Given the description of an element on the screen output the (x, y) to click on. 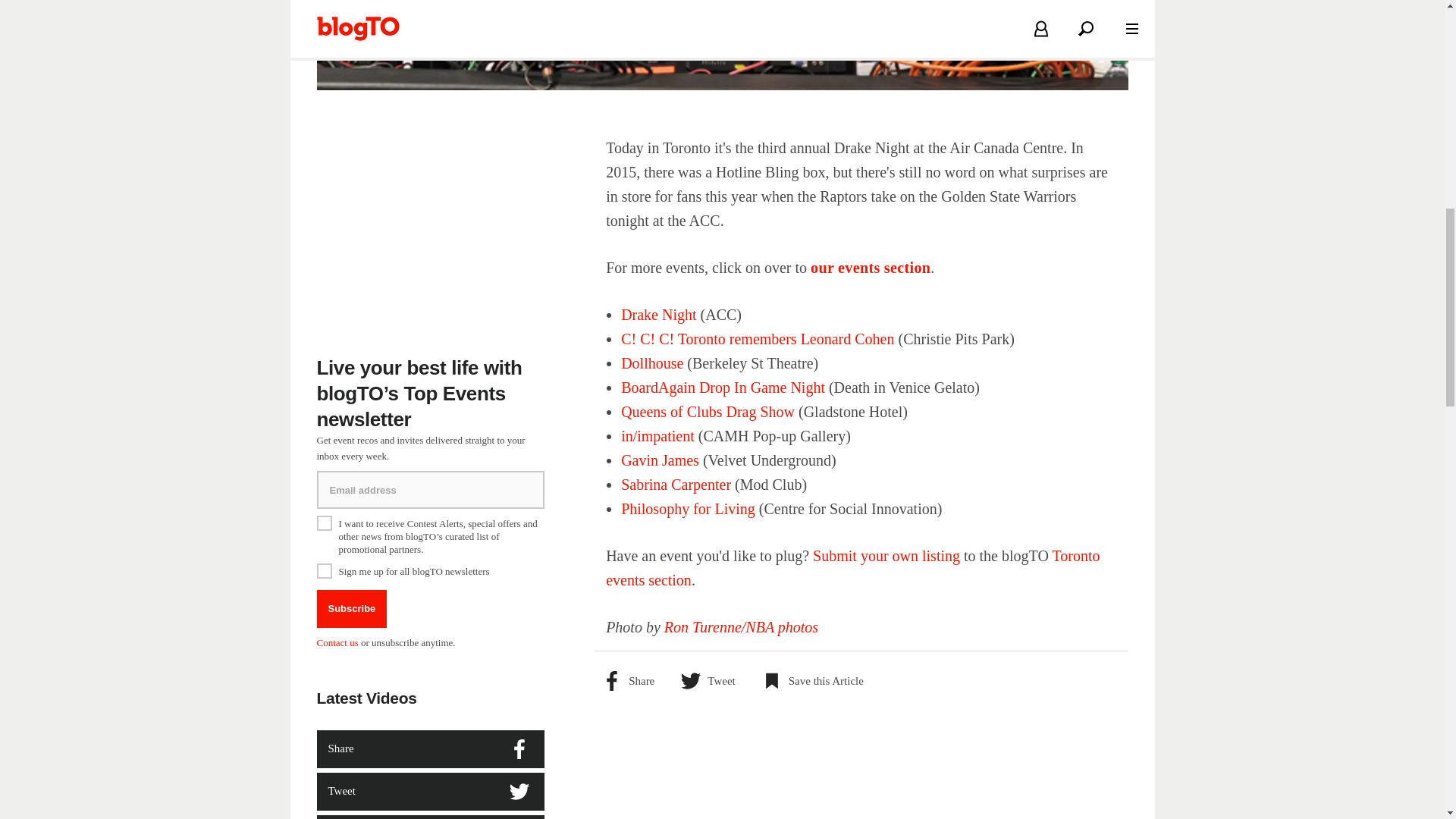
Subscribe (352, 608)
